Given the description of an element on the screen output the (x, y) to click on. 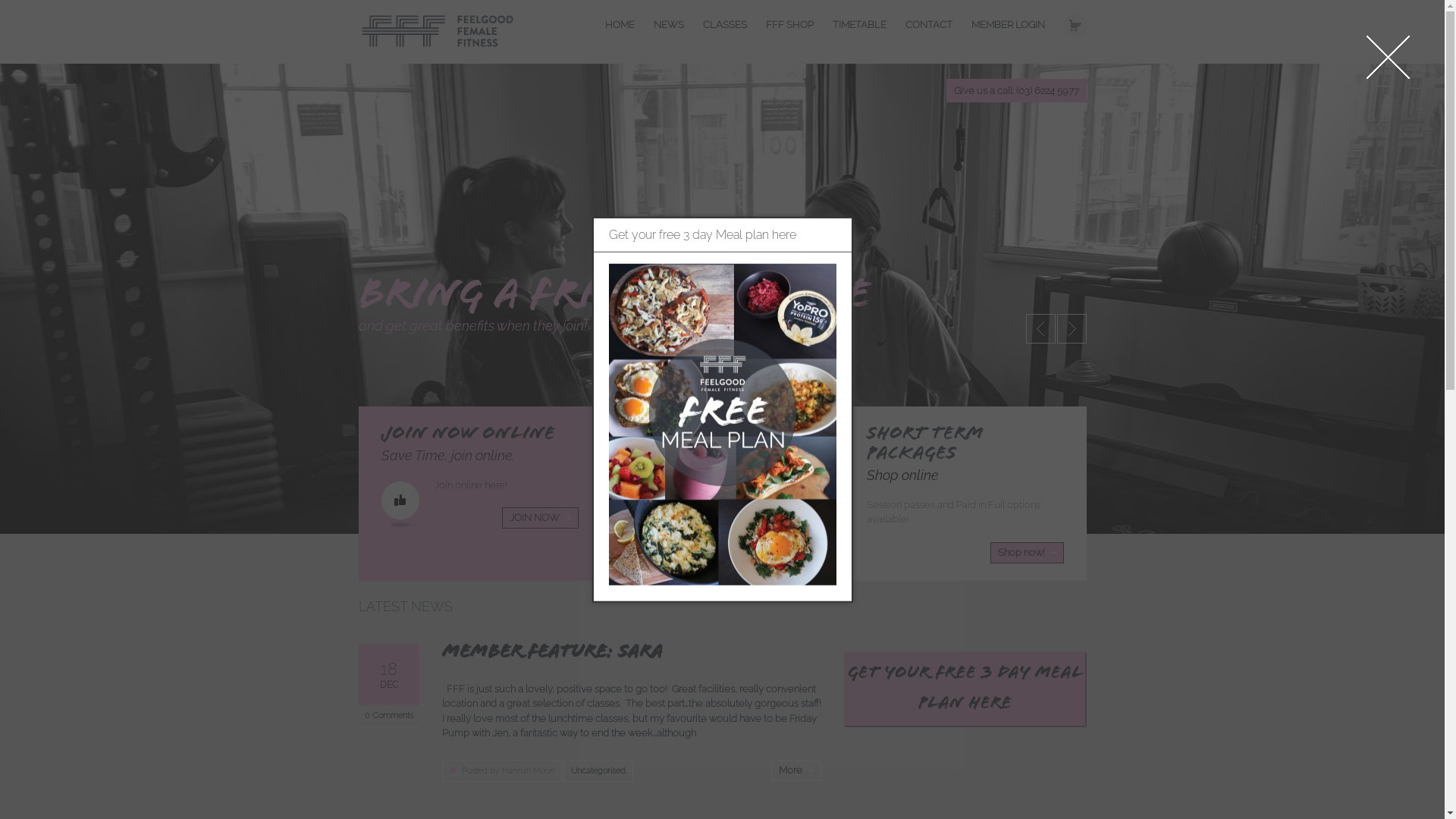
Contact us Element type: text (783, 532)
NEWS Element type: text (668, 25)
FFF SHOP Element type: text (789, 25)
CLASSES Element type: text (724, 25)
Get your free 3 day Meal plan here Element type: text (964, 689)
MEMBER LOGIN Element type: text (1007, 25)
0 Comments Element type: text (387, 716)
  Element type: text (1039, 328)
More Element type: text (795, 770)
Shop now! Element type: text (1026, 552)
JOIN NOW Element type: text (540, 517)
HOME Element type: text (619, 25)
  Element type: text (1071, 328)
TIMETABLE Element type: text (859, 25)
Member feature: Sara Element type: text (551, 653)
  Element type: text (1074, 24)
CONTACT Element type: text (928, 25)
Uncategorised Element type: text (597, 770)
